Given the description of an element on the screen output the (x, y) to click on. 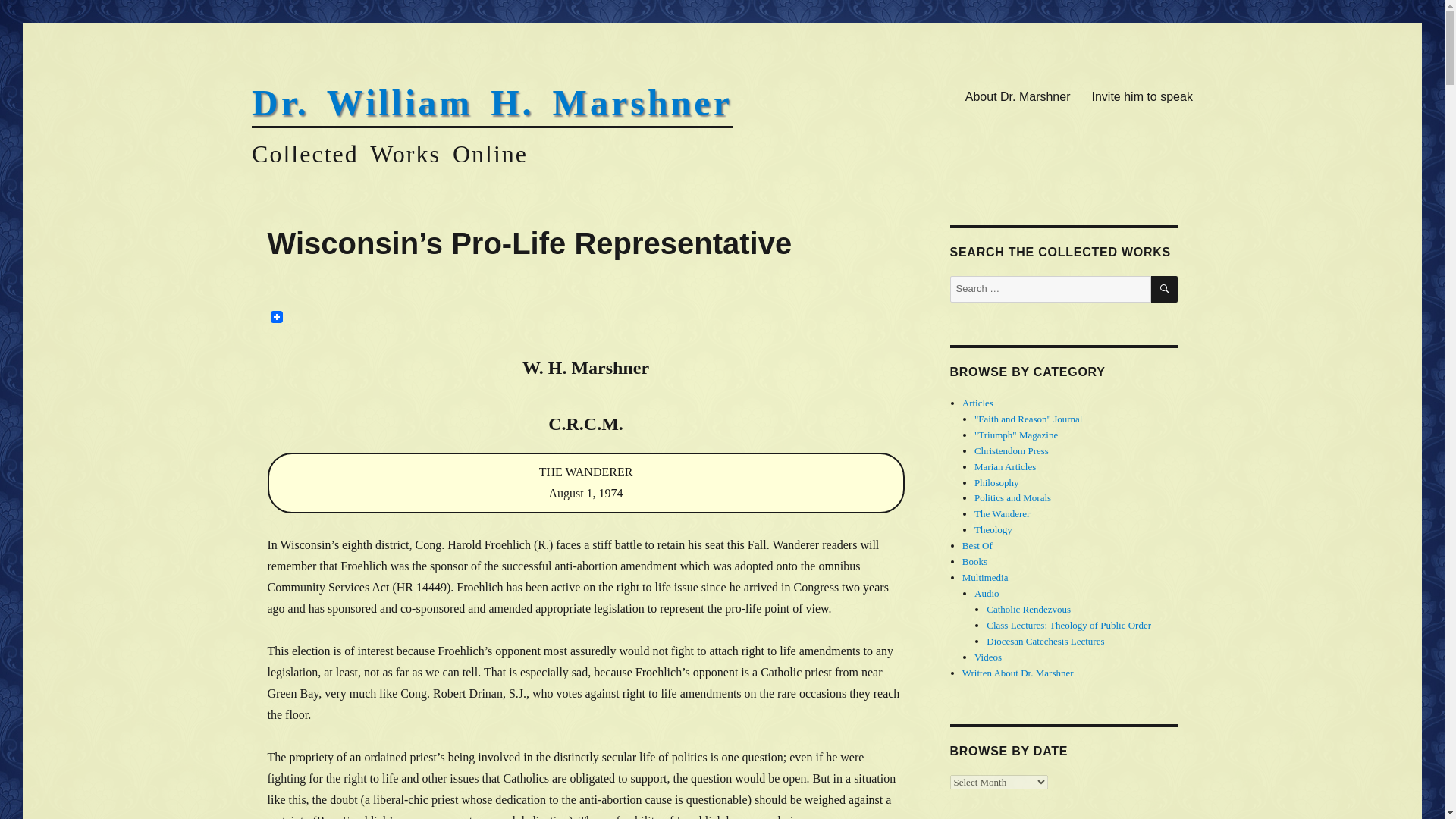
Invite him to speak (1142, 96)
SEARCH (1164, 289)
Christendom Press (1011, 450)
Books (974, 561)
Catholic Rendezvous (1028, 609)
Audio (986, 593)
Marian Articles (1004, 466)
Politics and Morals (1012, 497)
Dr. William H. Marshner (491, 102)
Best Of (977, 545)
"Faith and Reason" Journal (1027, 419)
"Triumph" Magazine (1016, 434)
Philosophy (996, 481)
Articles (977, 402)
About Dr. Marshner (1018, 96)
